Given the description of an element on the screen output the (x, y) to click on. 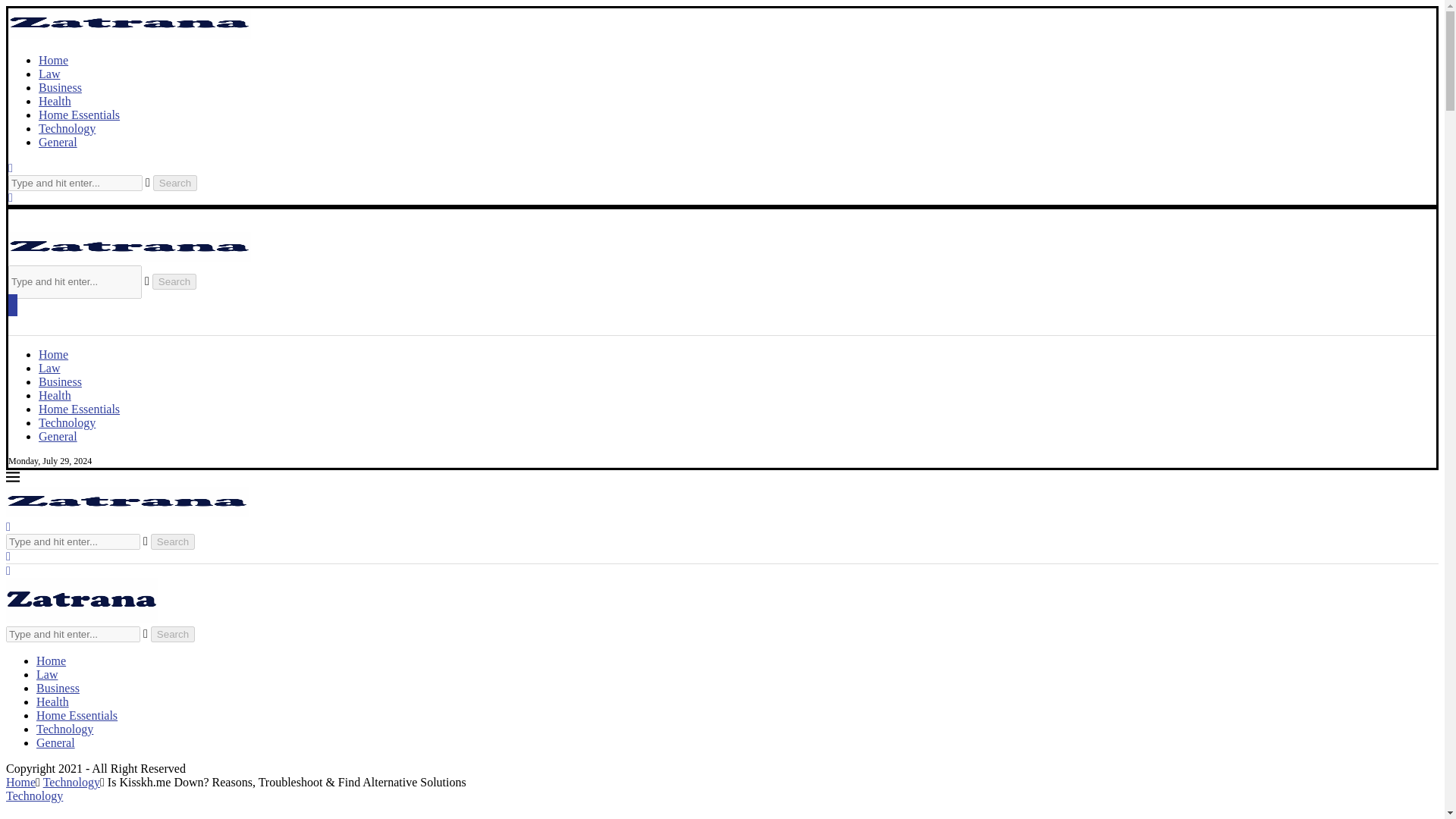
Technology (67, 422)
Health (55, 395)
Health (55, 101)
Home (53, 354)
Technology (67, 128)
General (55, 742)
Home Essentials (79, 408)
Search (174, 281)
Search (173, 541)
Home (19, 781)
Home (53, 60)
Technology (64, 728)
Home (50, 660)
Health (52, 701)
Business (58, 687)
